Given the description of an element on the screen output the (x, y) to click on. 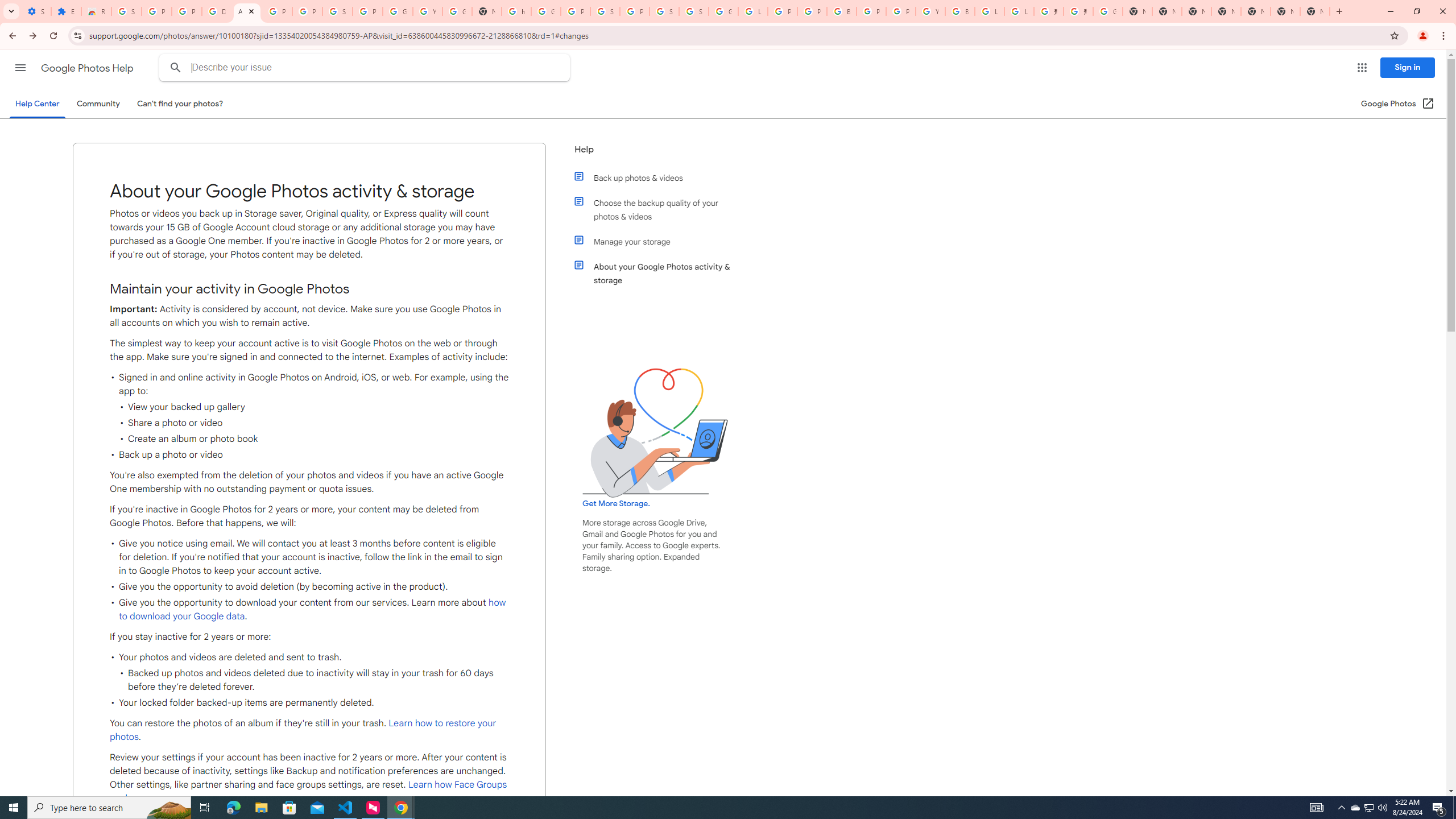
Settings - On startup (36, 11)
Privacy Help Center - Policies Help (811, 11)
Help Center (36, 103)
